Given the description of an element on the screen output the (x, y) to click on. 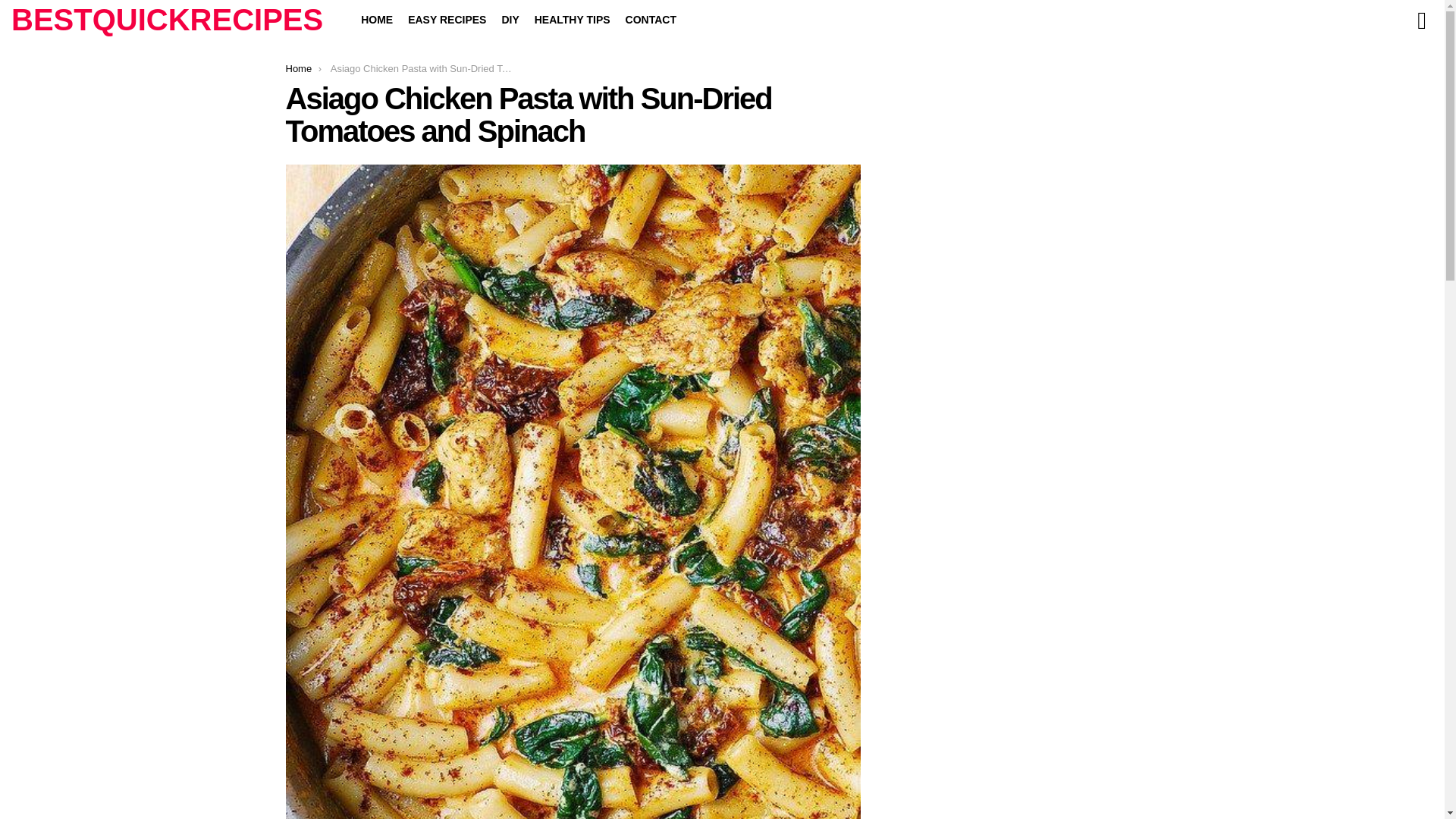
DIY (509, 19)
HEALTHY TIPS (572, 19)
SEARCH (1421, 20)
CONTACT (650, 19)
BESTQUICKRECIPES (167, 19)
HOME (376, 19)
Asiago Chicken Pasta with Sun-Dried Tomatoes and Spinach (572, 114)
EASY RECIPES (446, 19)
Home (298, 68)
